Given the description of an element on the screen output the (x, y) to click on. 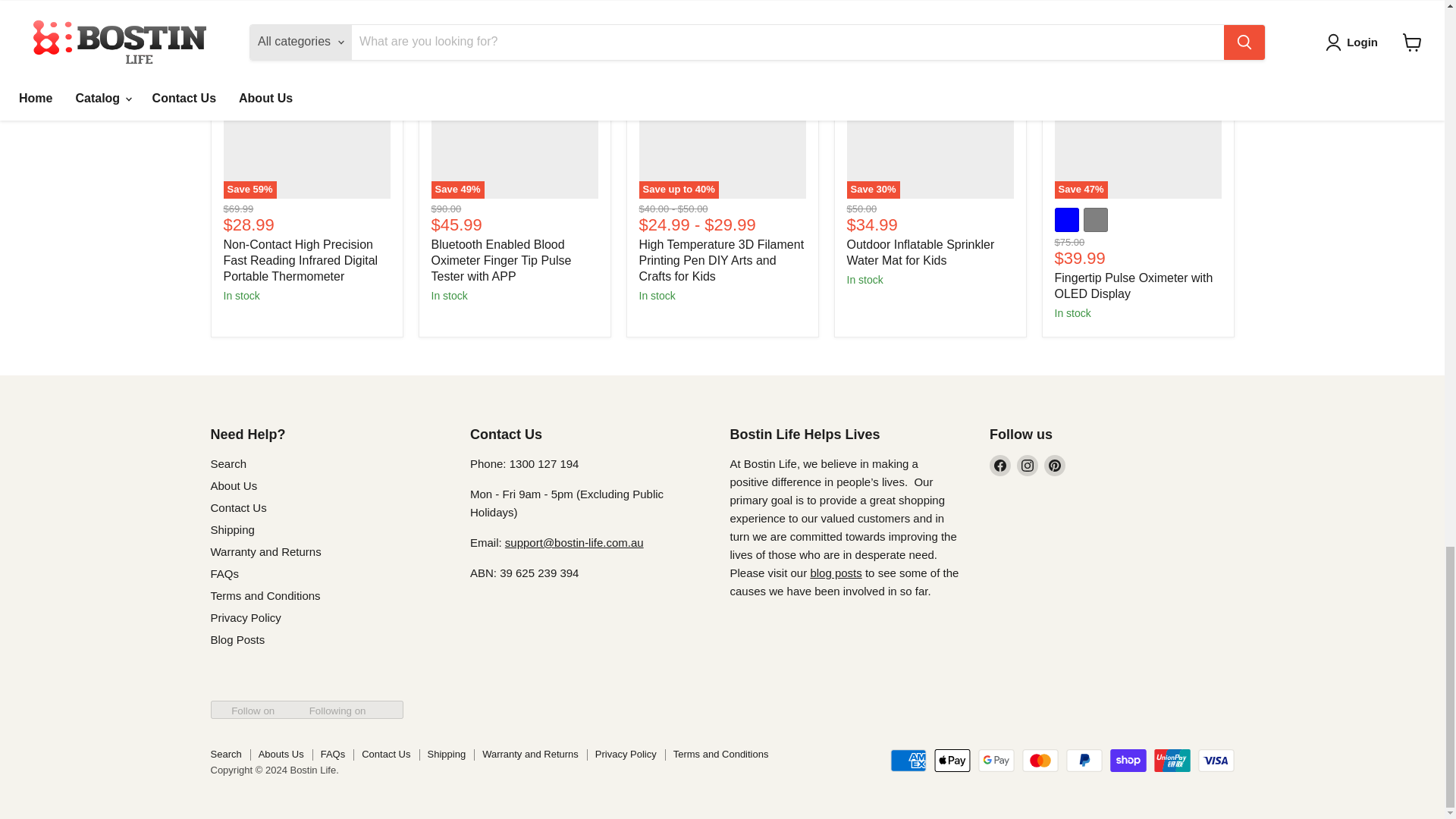
News (835, 572)
Pinterest (1054, 465)
Instagram (1027, 465)
Facebook (1000, 465)
